Given the description of an element on the screen output the (x, y) to click on. 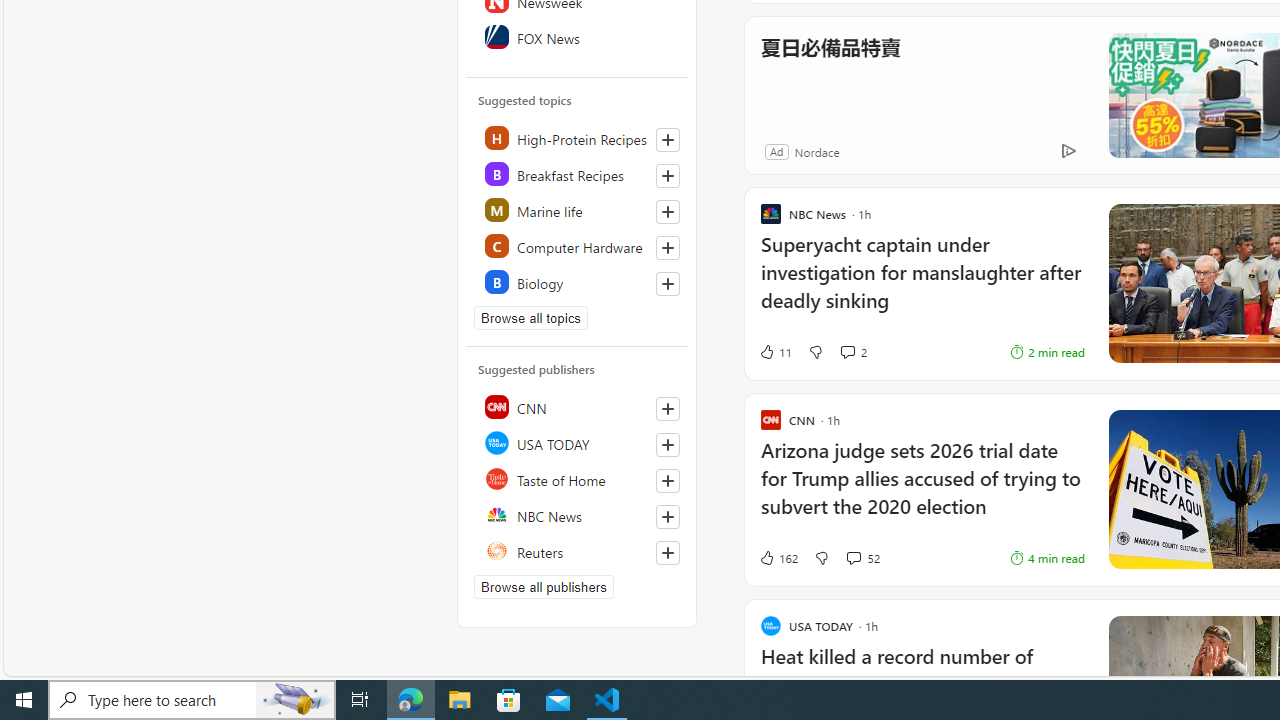
View comments 52 Comment (852, 557)
11 Like (775, 351)
View comments 52 Comment (862, 557)
Reuters (578, 550)
Class: highlight (578, 281)
Follow this topic (667, 283)
FOX News (578, 36)
Taste of Home (578, 478)
162 Like (778, 557)
